Given the description of an element on the screen output the (x, y) to click on. 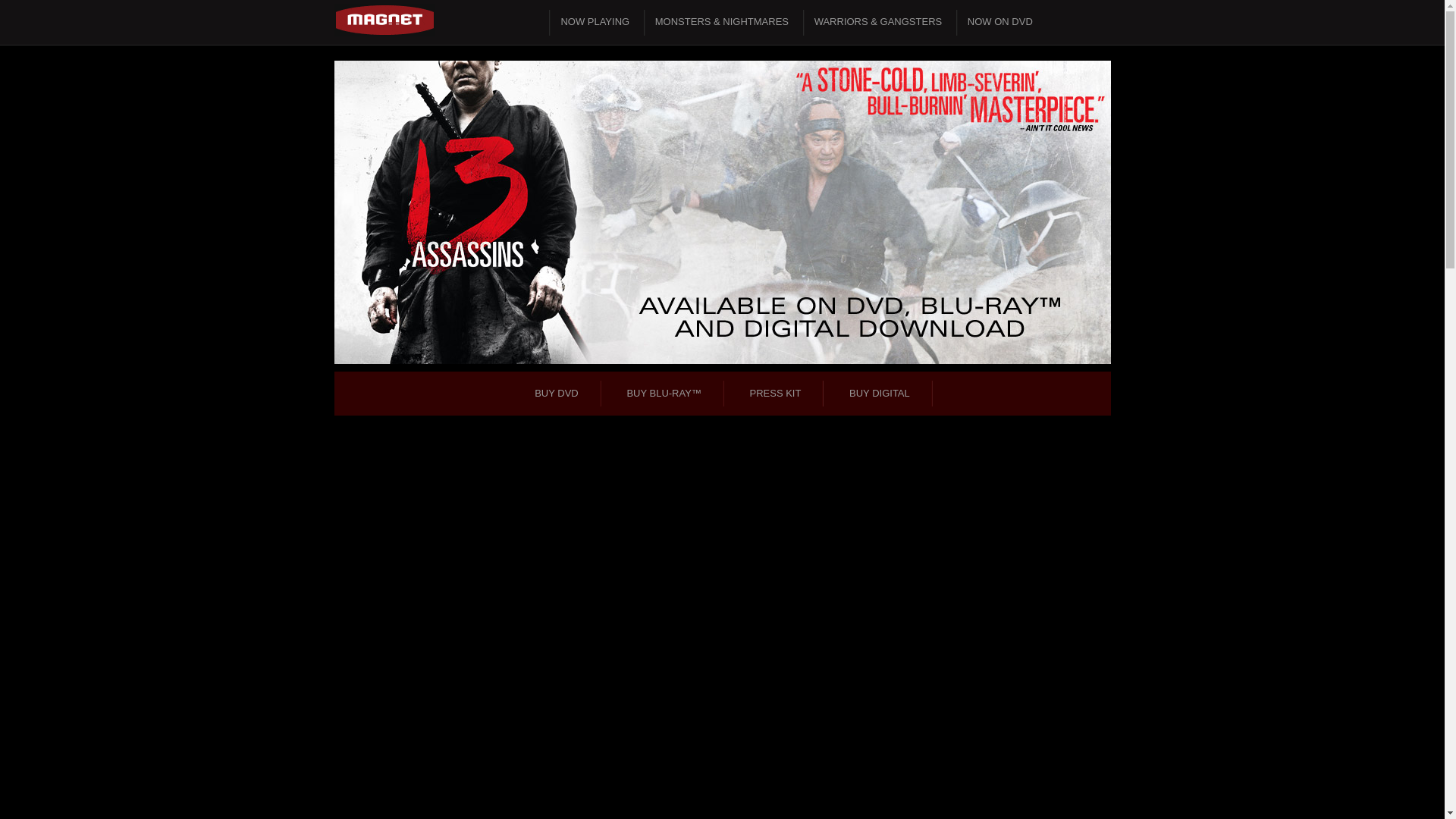
WARRIORS & GANGSTERS Element type: text (878, 21)
NOW ON DVD Element type: text (999, 21)
PRESS KIT Element type: text (775, 392)
MONSTERS & NIGHTMARES Element type: text (721, 21)
BUY DIGITAL Element type: text (879, 392)
NOW PLAYING Element type: text (594, 21)
BUY DVD Element type: text (556, 392)
